Given the description of an element on the screen output the (x, y) to click on. 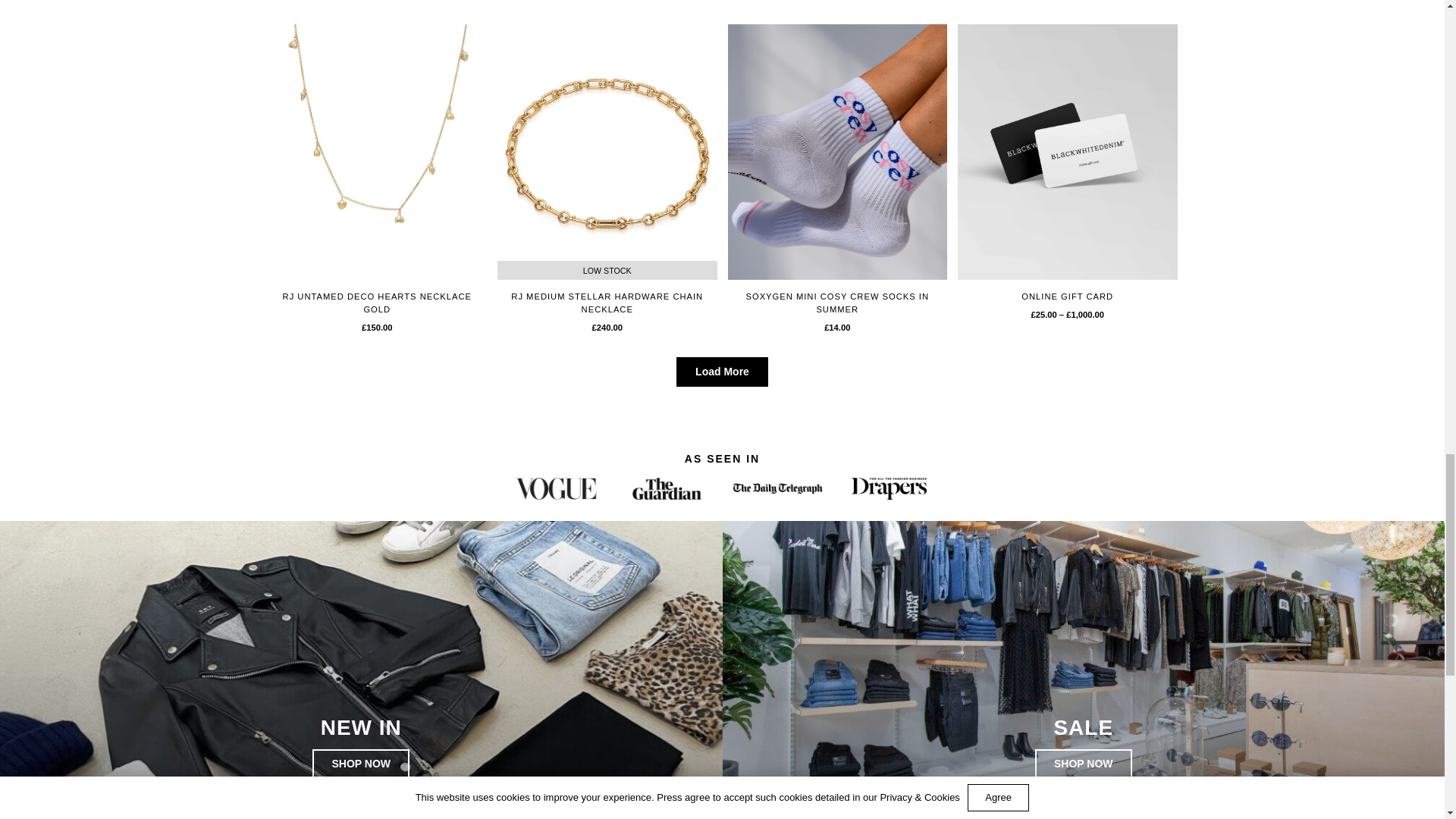
Sale (1083, 763)
New In (361, 763)
